Given the description of an element on the screen output the (x, y) to click on. 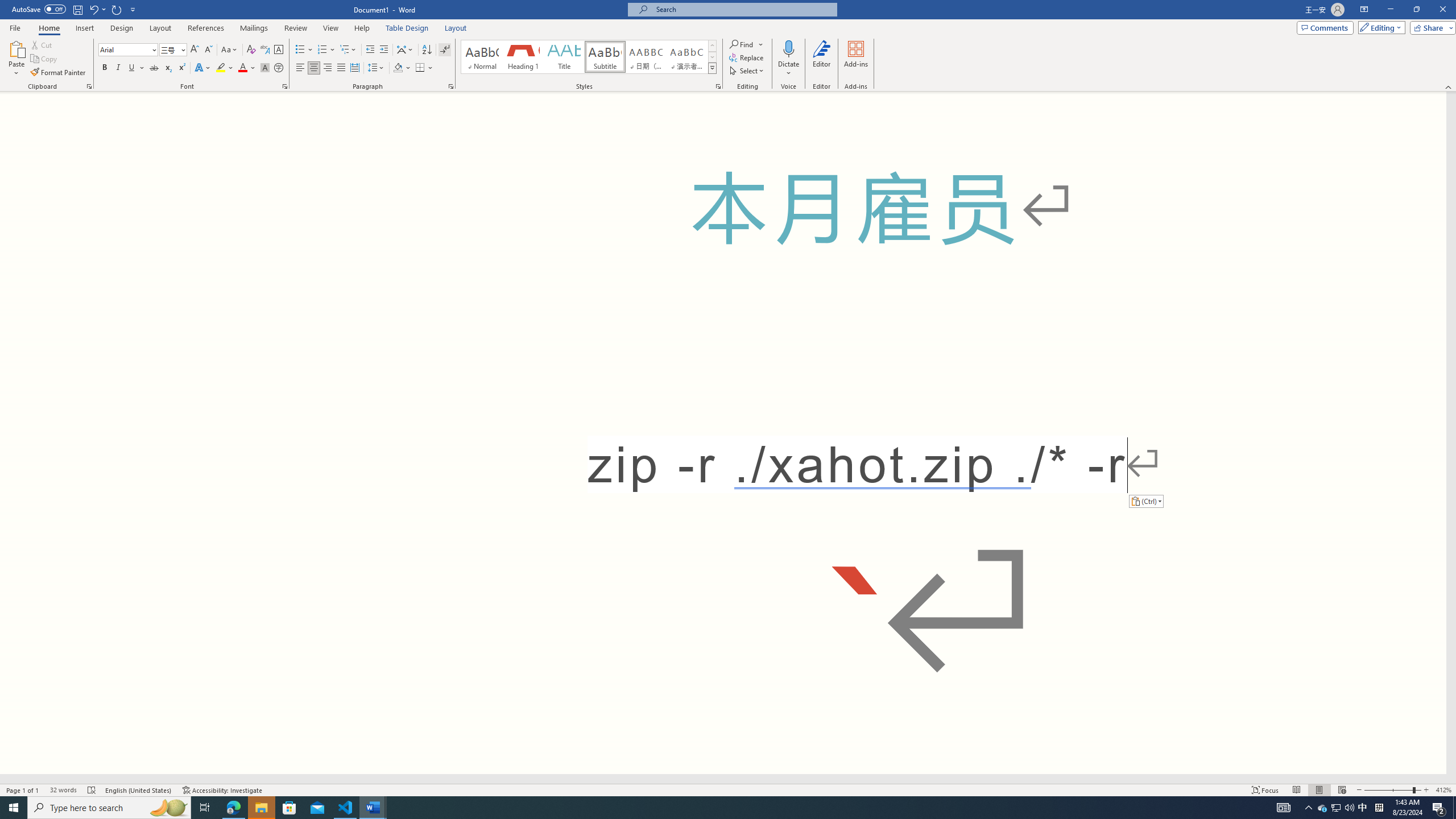
Select (747, 69)
